Given the description of an element on the screen output the (x, y) to click on. 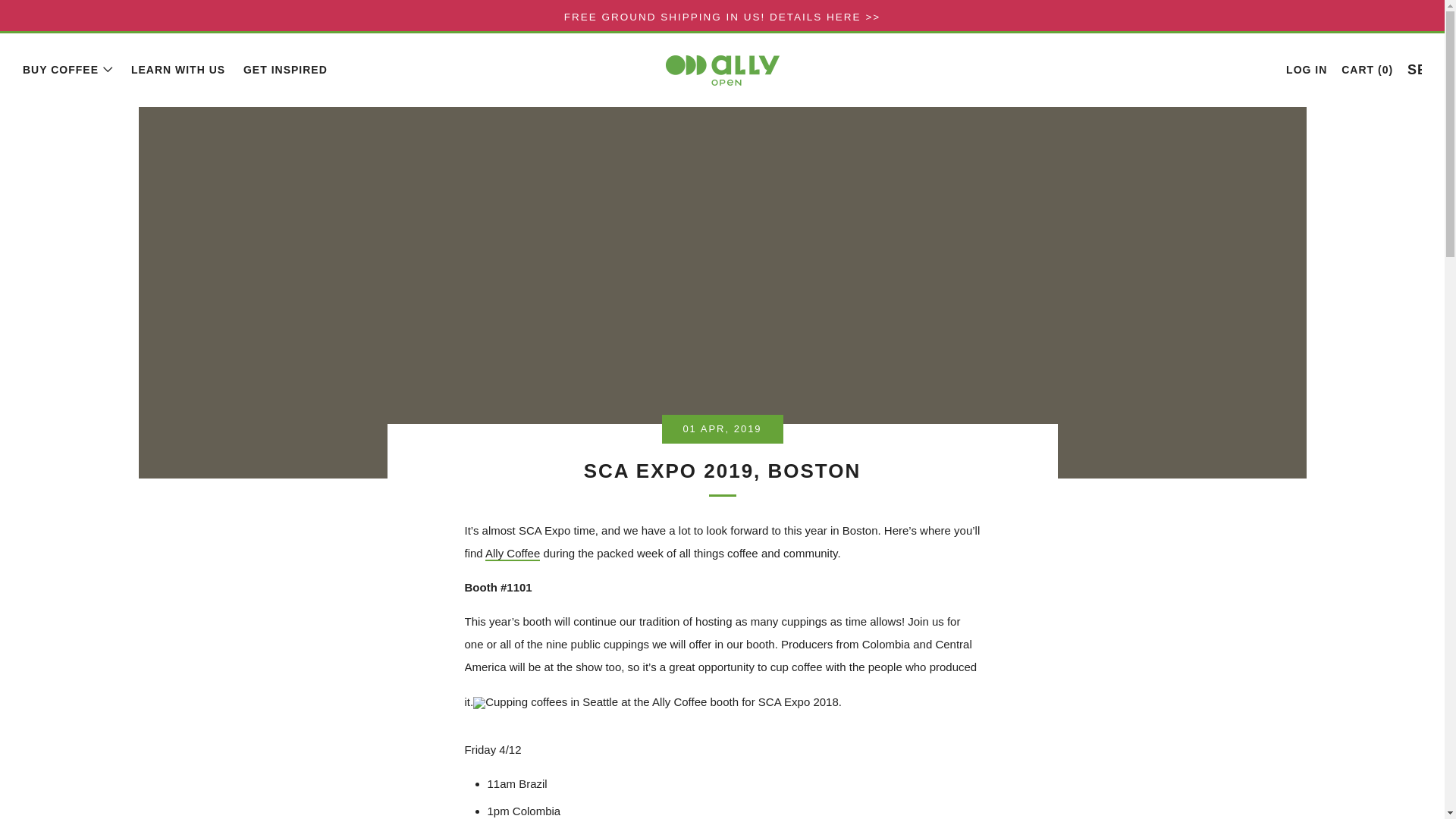
LOG IN (1305, 69)
LEARN WITH US (178, 69)
Ally Coffee (512, 554)
SEARCH (1414, 68)
GET INSPIRED (285, 69)
BUY COFFEE (68, 69)
